Given the description of an element on the screen output the (x, y) to click on. 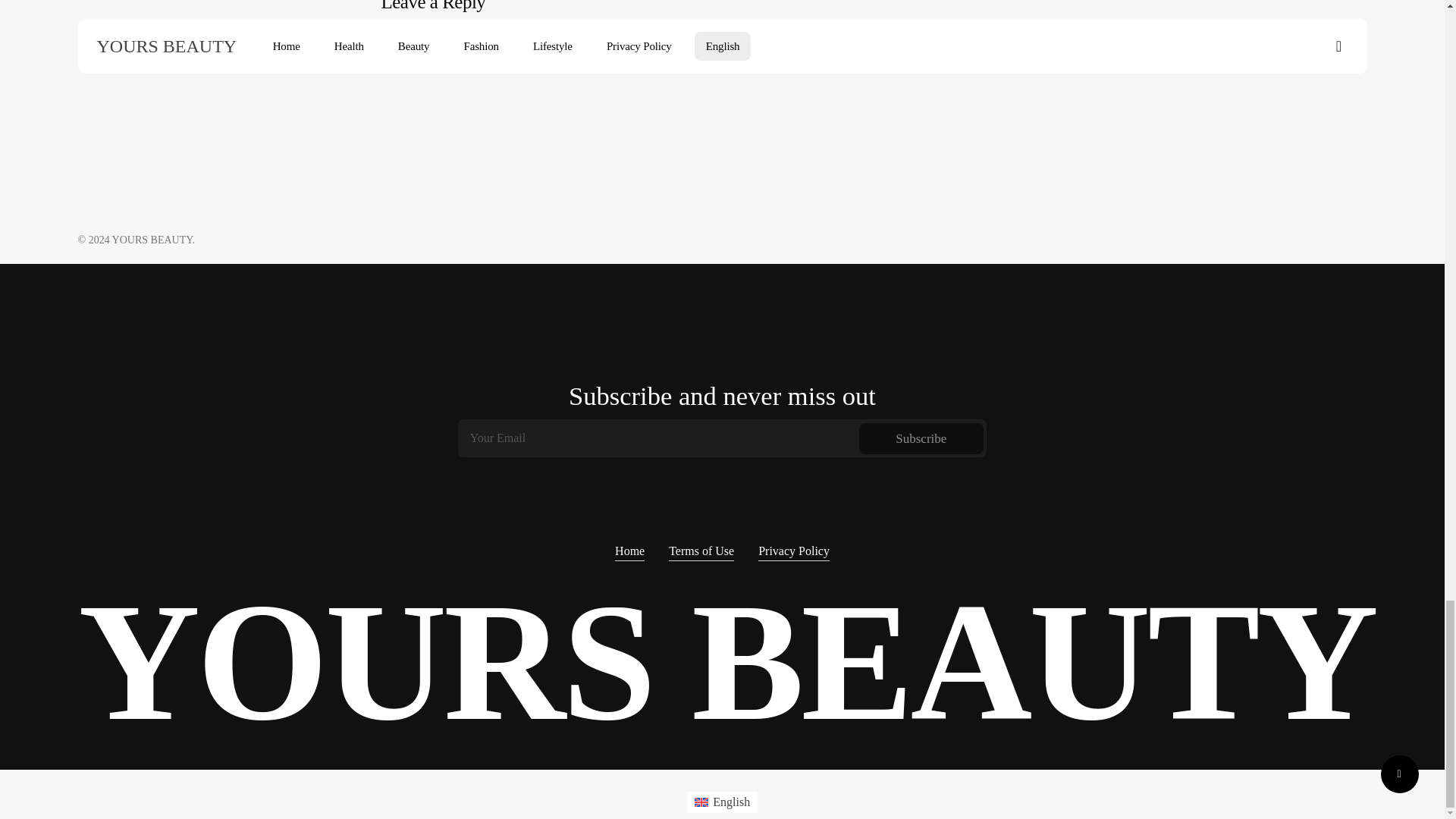
Terms of Use (700, 551)
logged in (467, 43)
Home (629, 551)
Privacy Policy (793, 551)
Subscribe (920, 437)
English (722, 802)
